Given the description of an element on the screen output the (x, y) to click on. 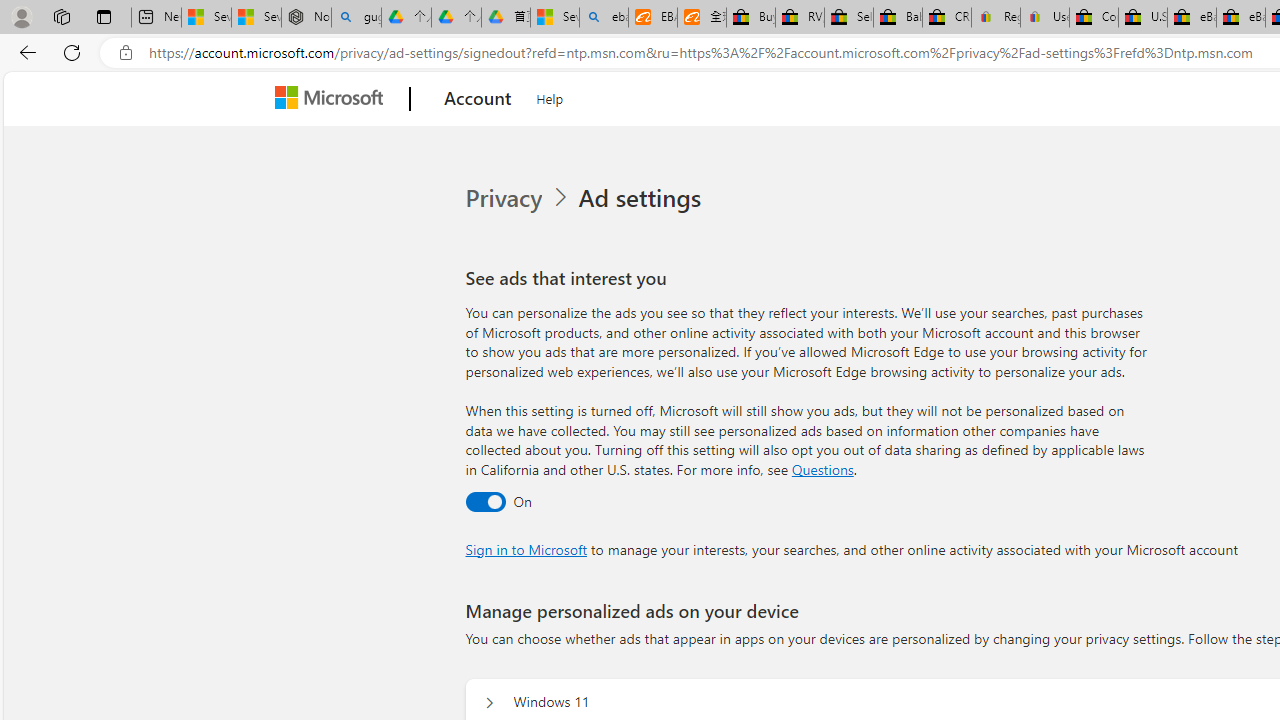
eBay Inc. Reports Third Quarter 2023 Results (1240, 17)
Ad settings toggle (484, 501)
Help (550, 96)
Register: Create a personal eBay account (995, 17)
Privacy (505, 197)
Privacy (519, 197)
Manage personalized ads on your device Windows 11 (489, 702)
